Given the description of an element on the screen output the (x, y) to click on. 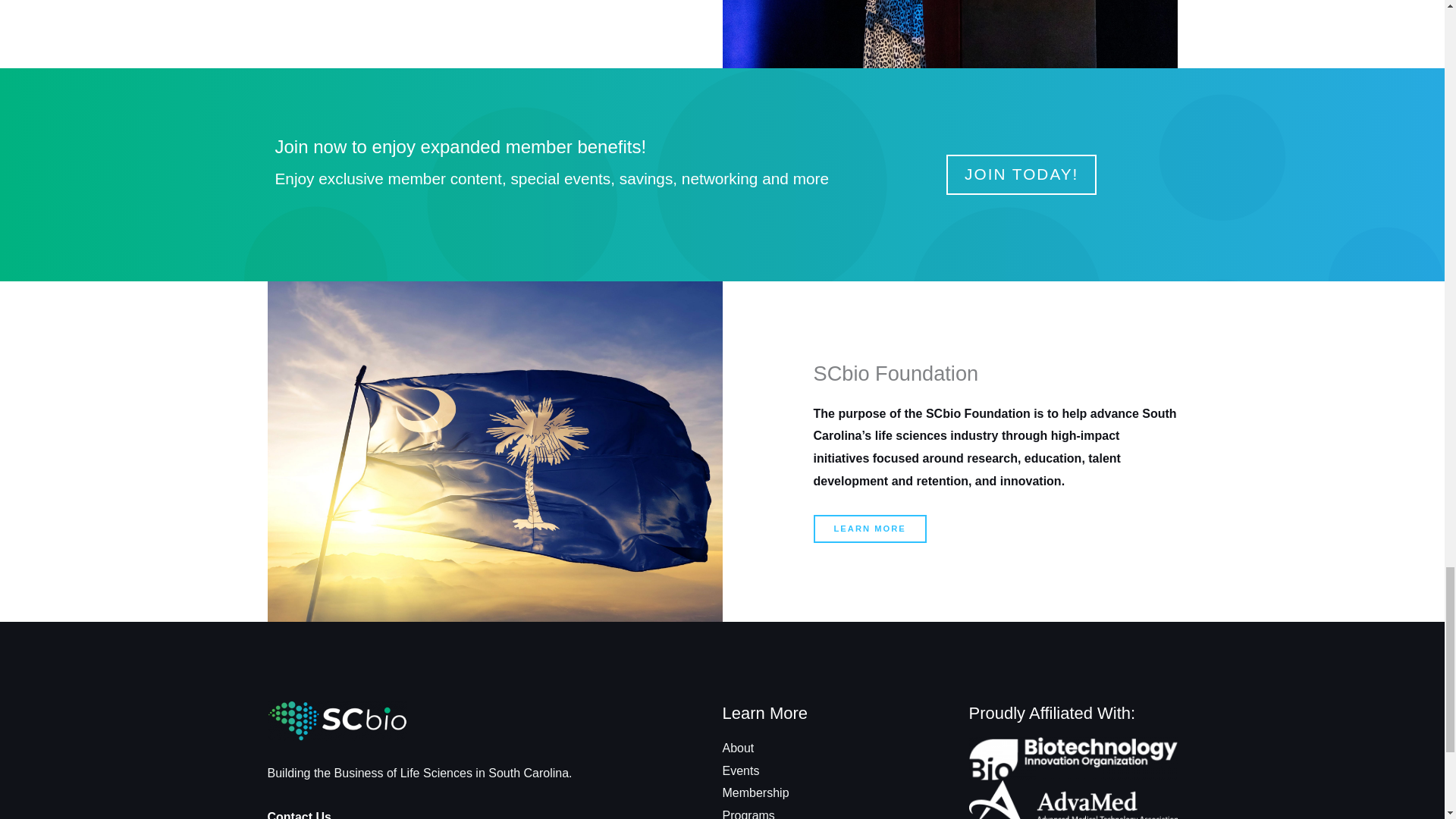
Save with SCbio (1073, 757)
AdvaMed (1073, 799)
